Given the description of an element on the screen output the (x, y) to click on. 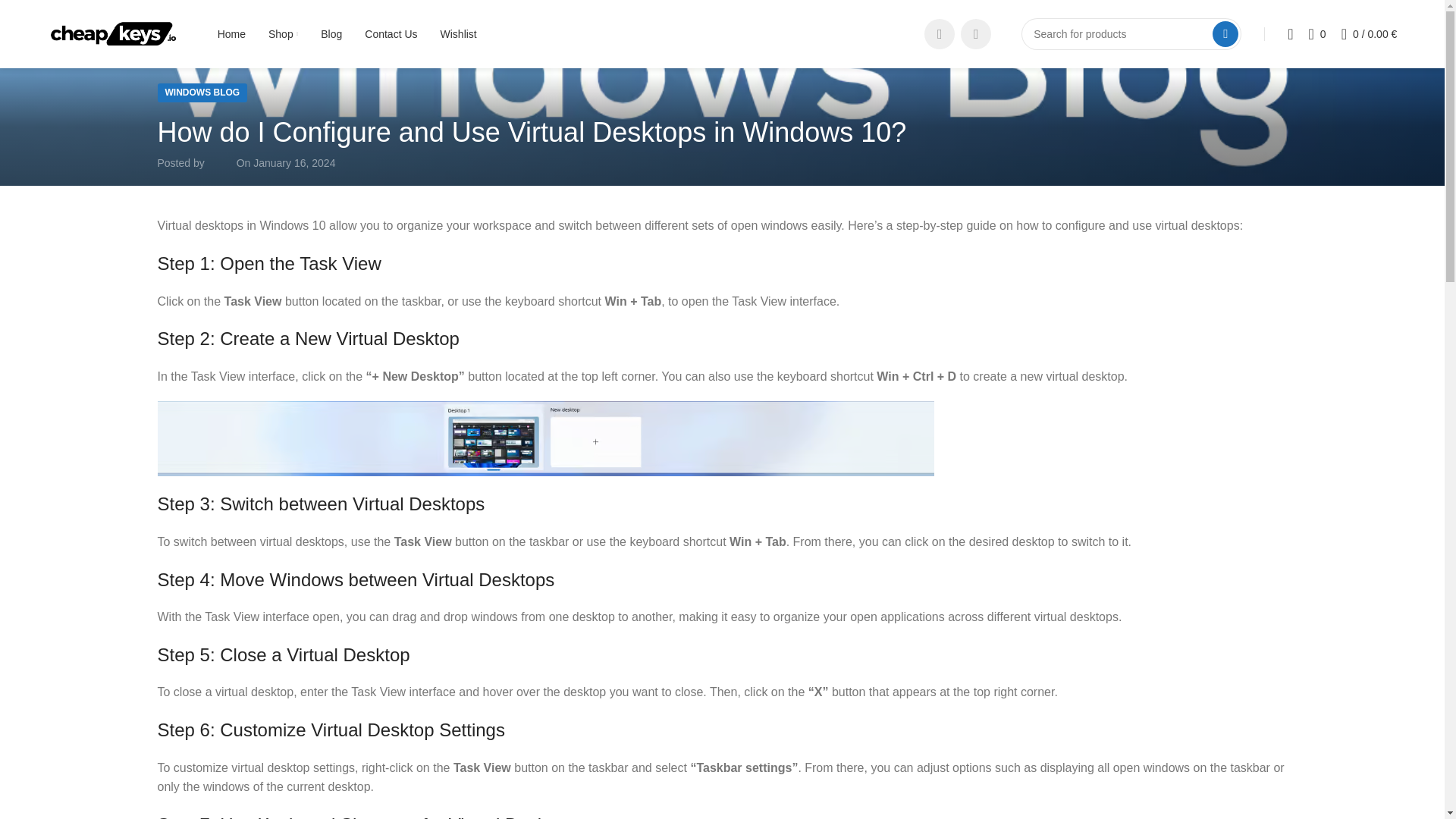
WINDOWS BLOG (202, 92)
Shopping cart (1369, 33)
Contact Us (390, 33)
0 (1317, 33)
Home (231, 33)
Shop (282, 33)
My Wishlist (1317, 33)
Wishlist (459, 33)
cheapkeys.io Website Logo - Cheap Keys (113, 34)
Search for products (1131, 33)
Search (1225, 33)
